Given the description of an element on the screen output the (x, y) to click on. 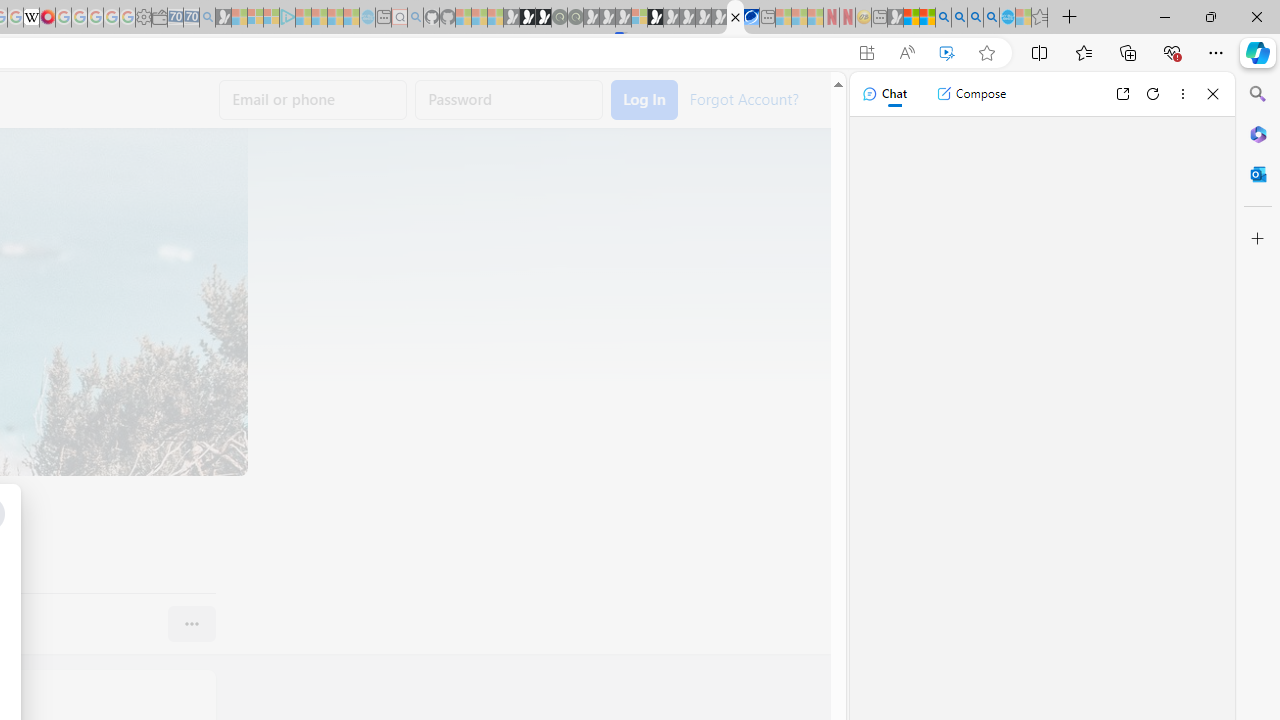
MediaWiki (47, 17)
Future Focus Report 2024 - Sleeping (575, 17)
